Given the description of an element on the screen output the (x, y) to click on. 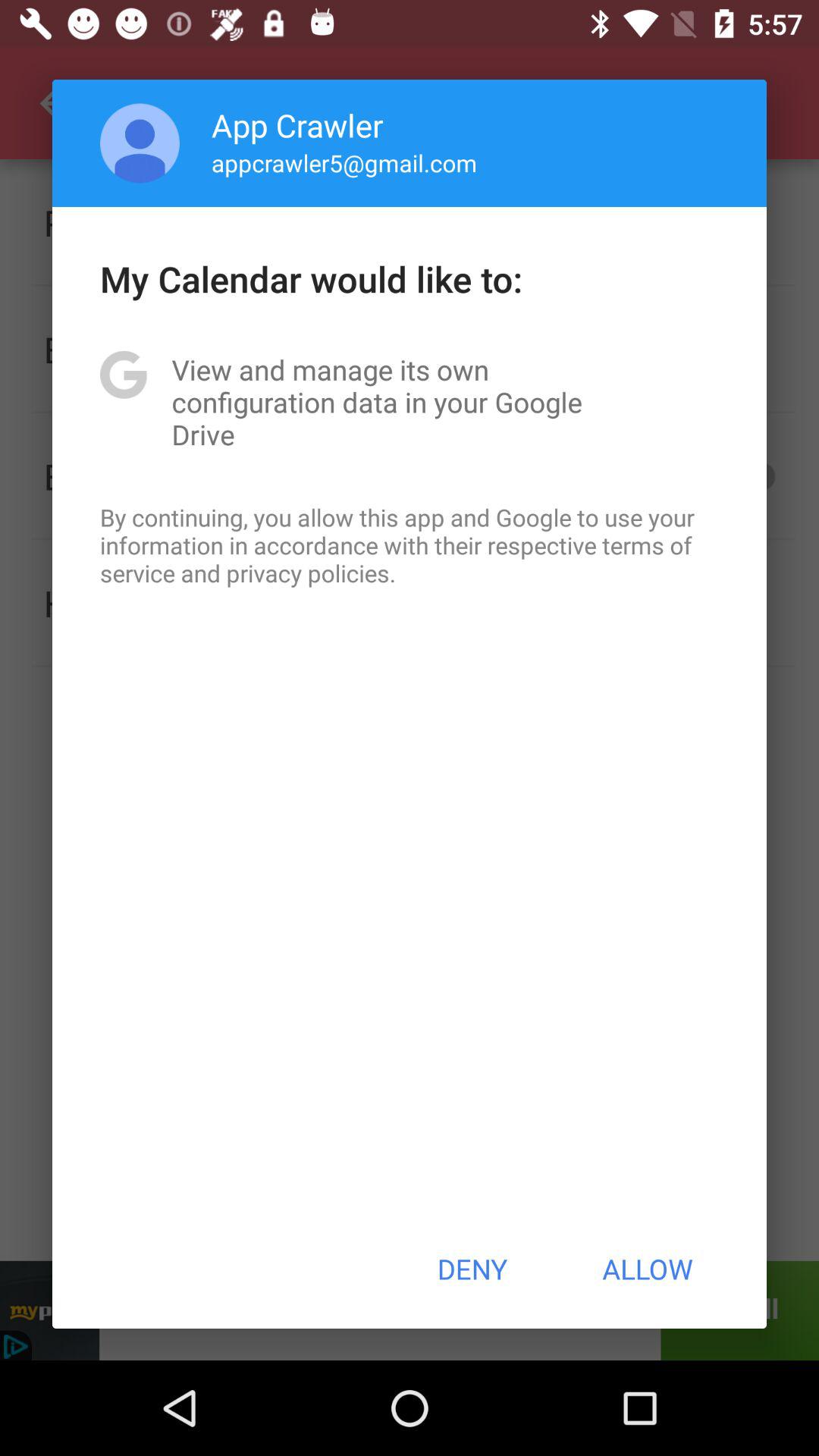
tap the icon next to the app crawler item (139, 143)
